Given the description of an element on the screen output the (x, y) to click on. 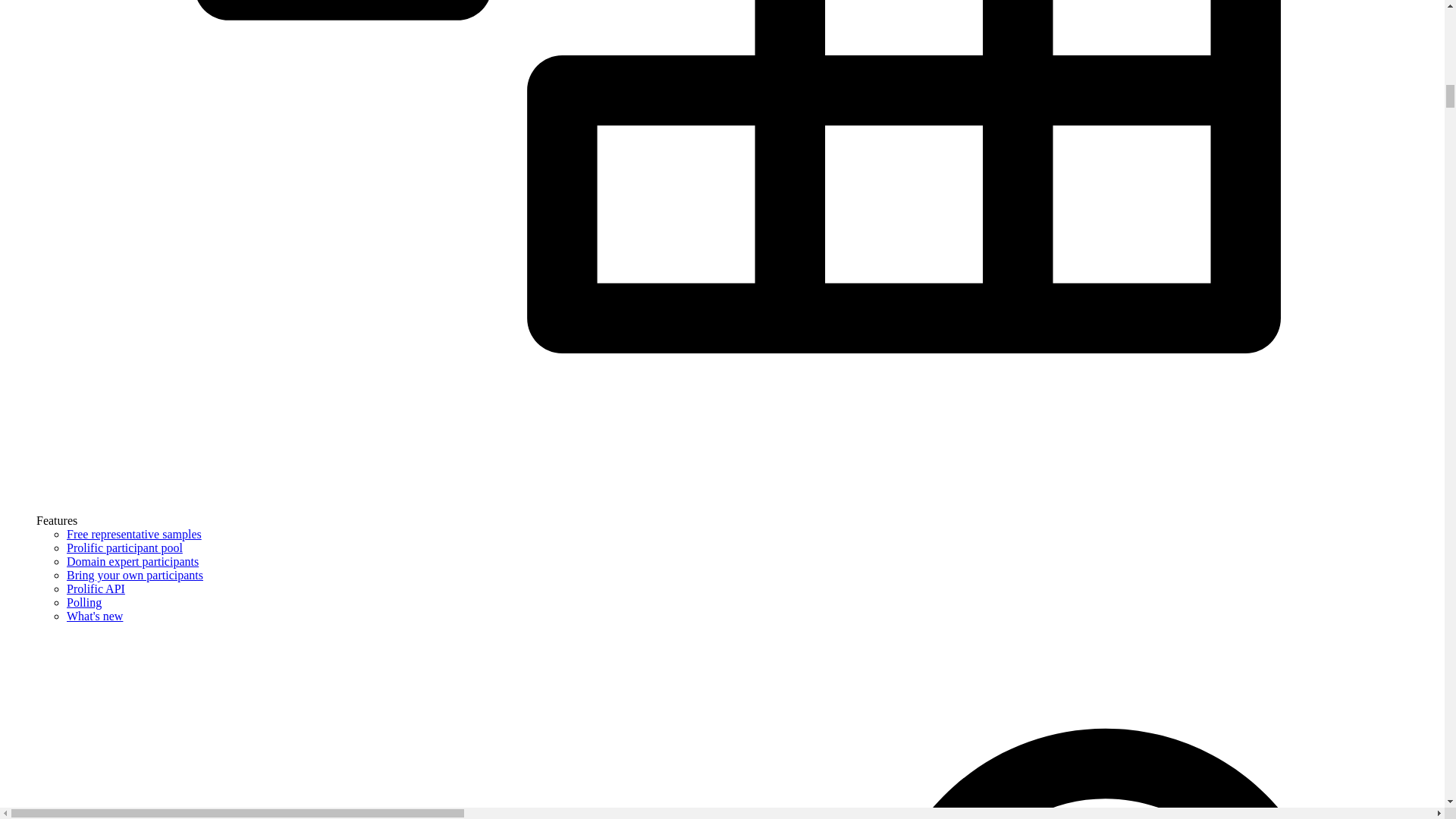
Prolific API (95, 588)
Domain expert participants (132, 561)
Prolific participant pool (124, 547)
Polling (83, 602)
Free representative samples (134, 533)
Bring your own participants (134, 574)
What's new (94, 615)
